Given the description of an element on the screen output the (x, y) to click on. 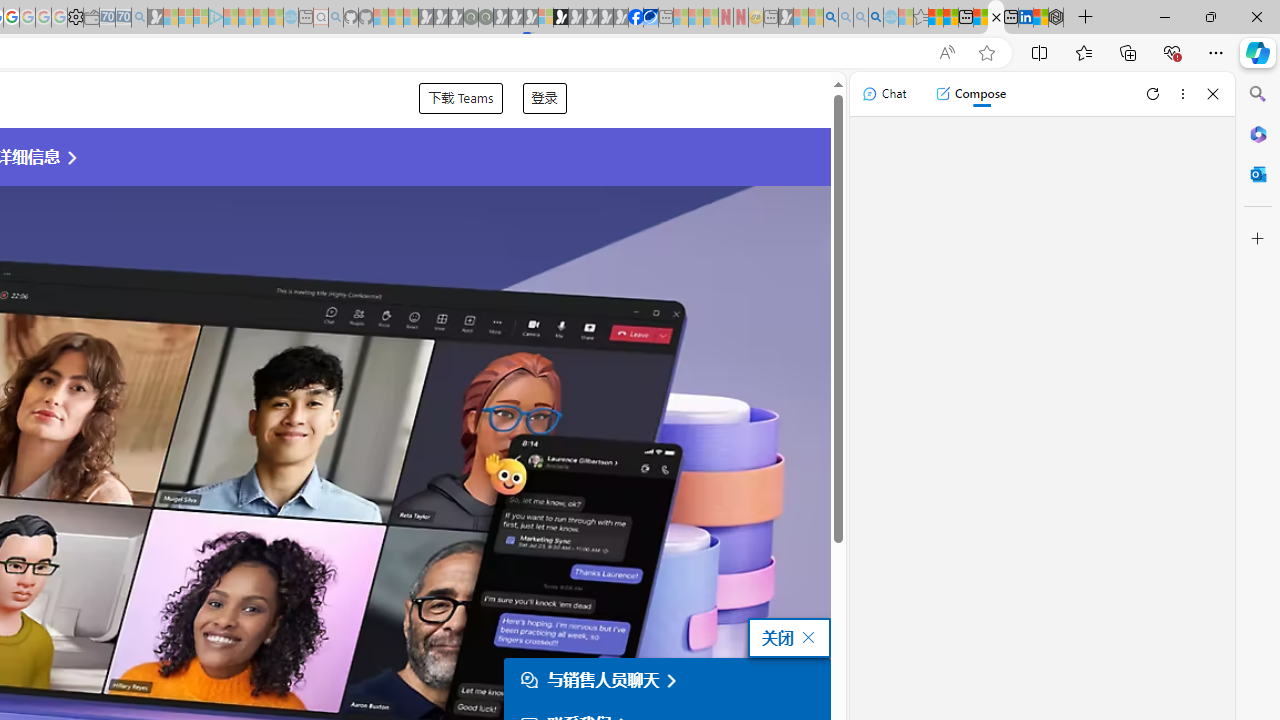
Compose (970, 93)
AQI & Health | AirNow.gov (650, 17)
Future Focus Report 2024 - Sleeping (485, 17)
